Given the description of an element on the screen output the (x, y) to click on. 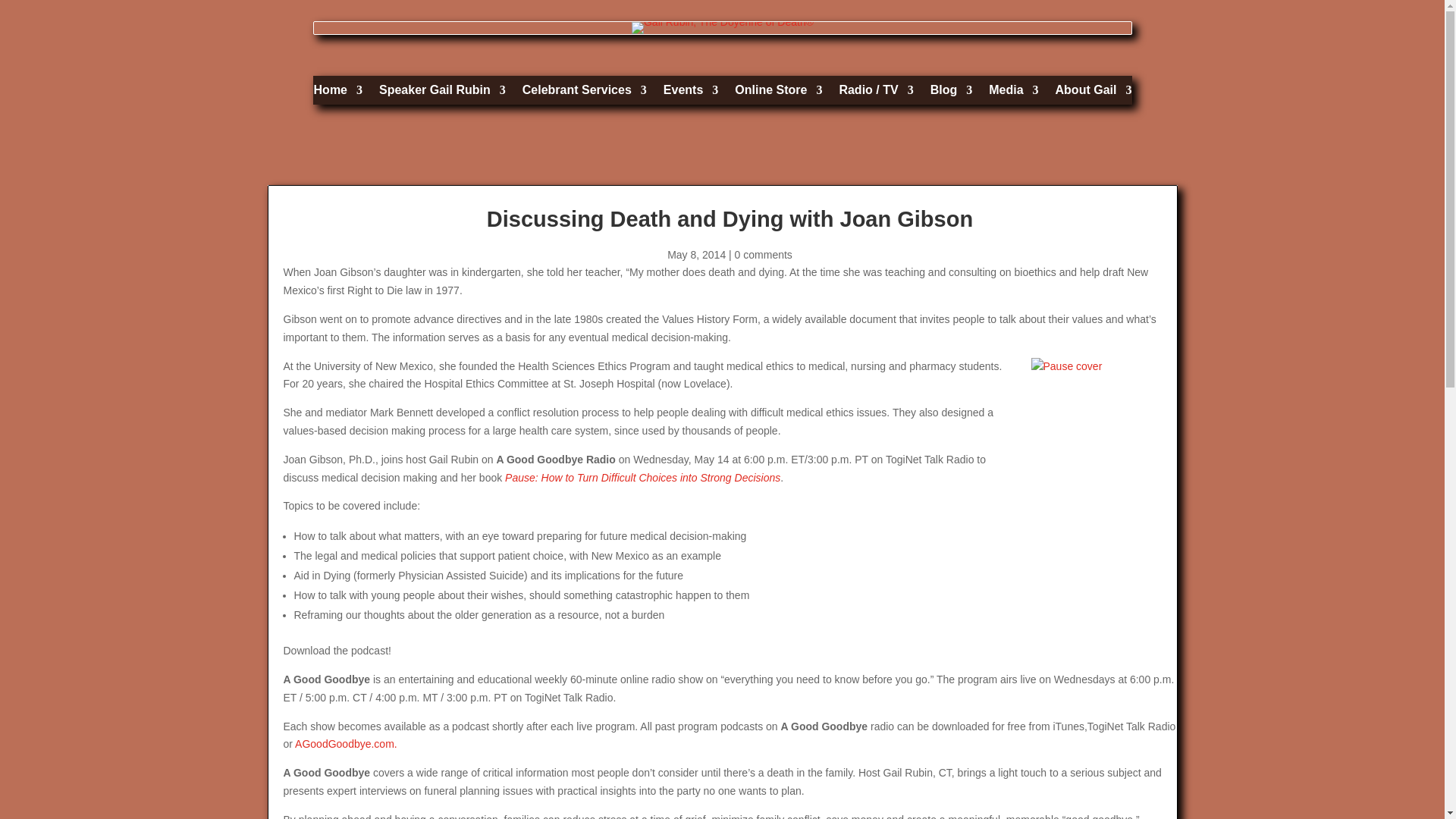
Speaker Gail Rubin (441, 92)
Funeral Services (584, 92)
Celebrant Services (584, 92)
Blog (951, 92)
Media (1013, 92)
Online Store (778, 92)
About Gail (1093, 92)
Colorful-skull-banner (722, 28)
Home (338, 92)
Events (690, 92)
